Given the description of an element on the screen output the (x, y) to click on. 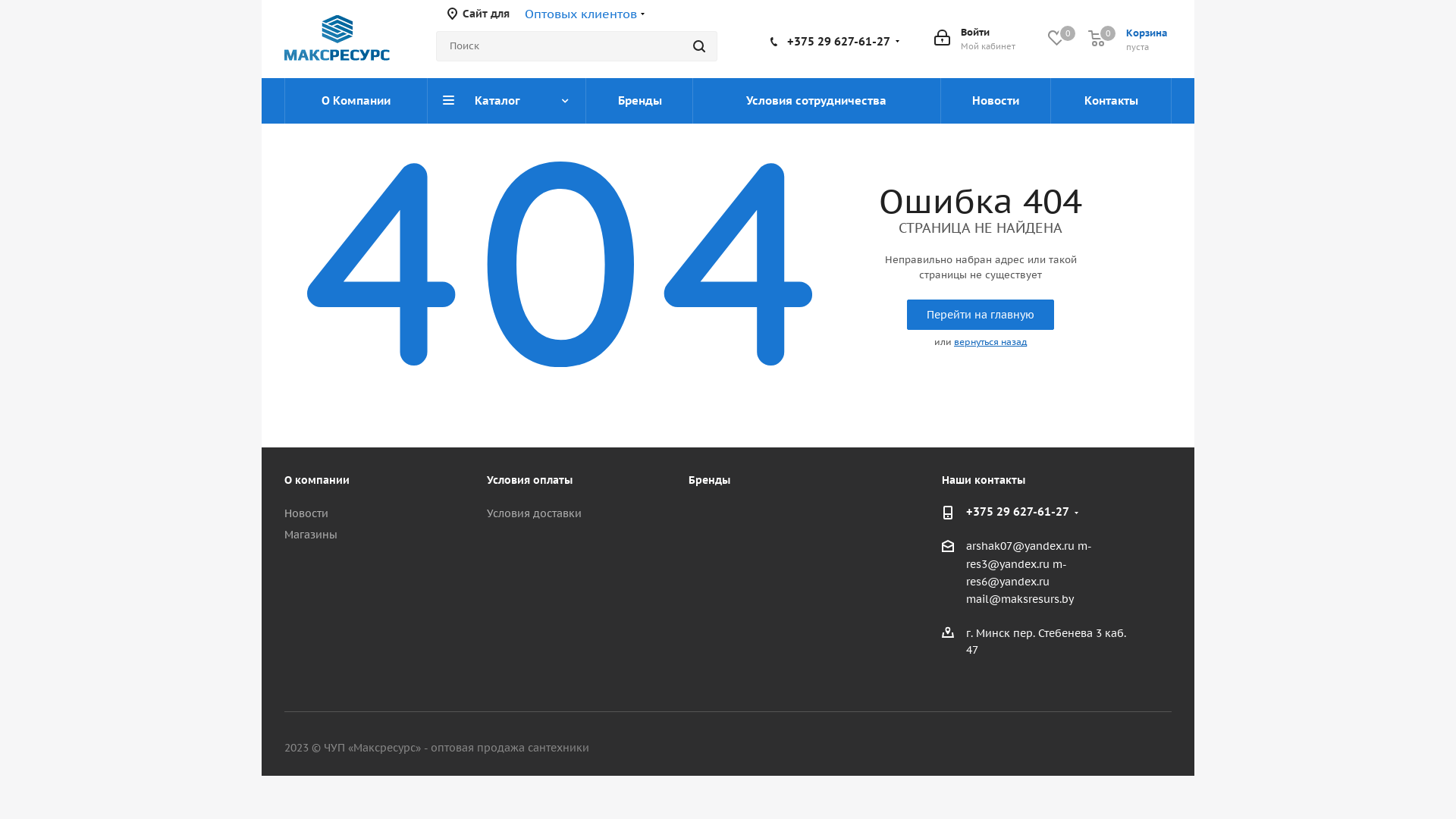
arshak07@yandex.ru Element type: text (1020, 546)
+375 29 627-61-27 Element type: text (838, 40)
+375 29 627-61-27 Element type: text (1017, 512)
m-res6@yandex.ru Element type: text (1016, 572)
mail@maksresurs.by Element type: text (1019, 599)
m-res3@yandex.ru Element type: text (1029, 555)
